Given the description of an element on the screen output the (x, y) to click on. 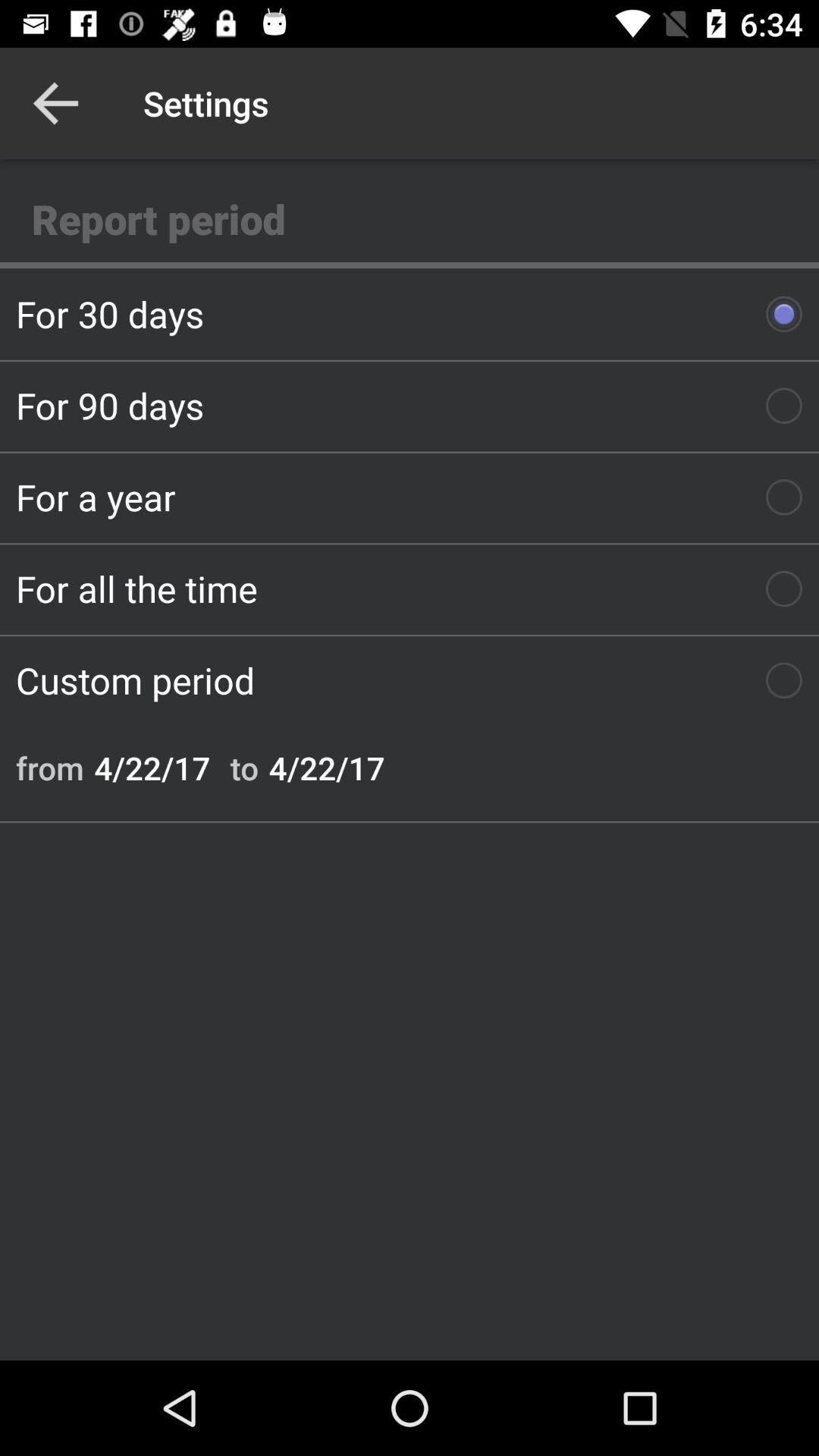
choose icon next to the 4/22/17 (49, 767)
